Given the description of an element on the screen output the (x, y) to click on. 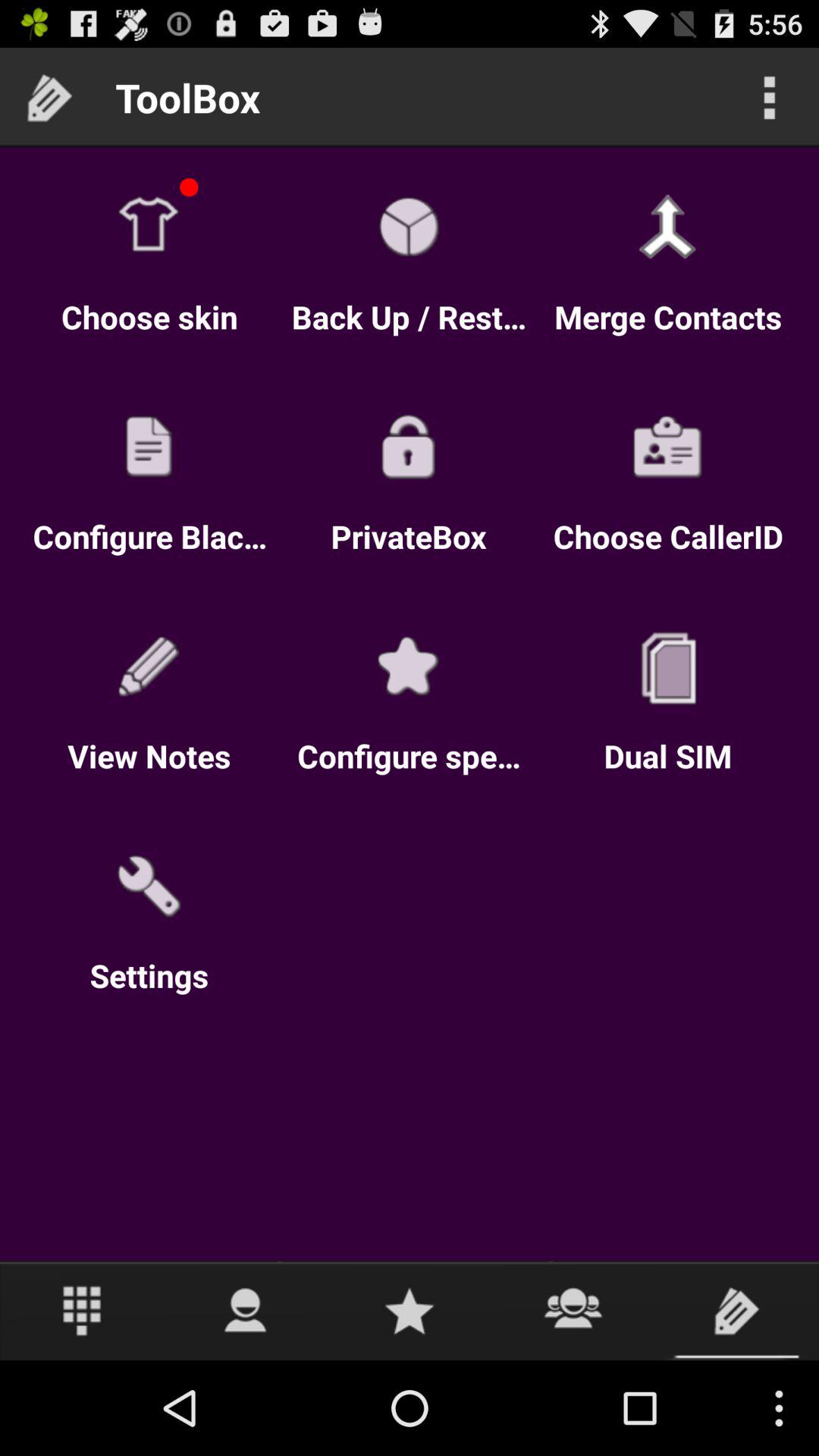
click for toolbox (737, 1310)
